Given the description of an element on the screen output the (x, y) to click on. 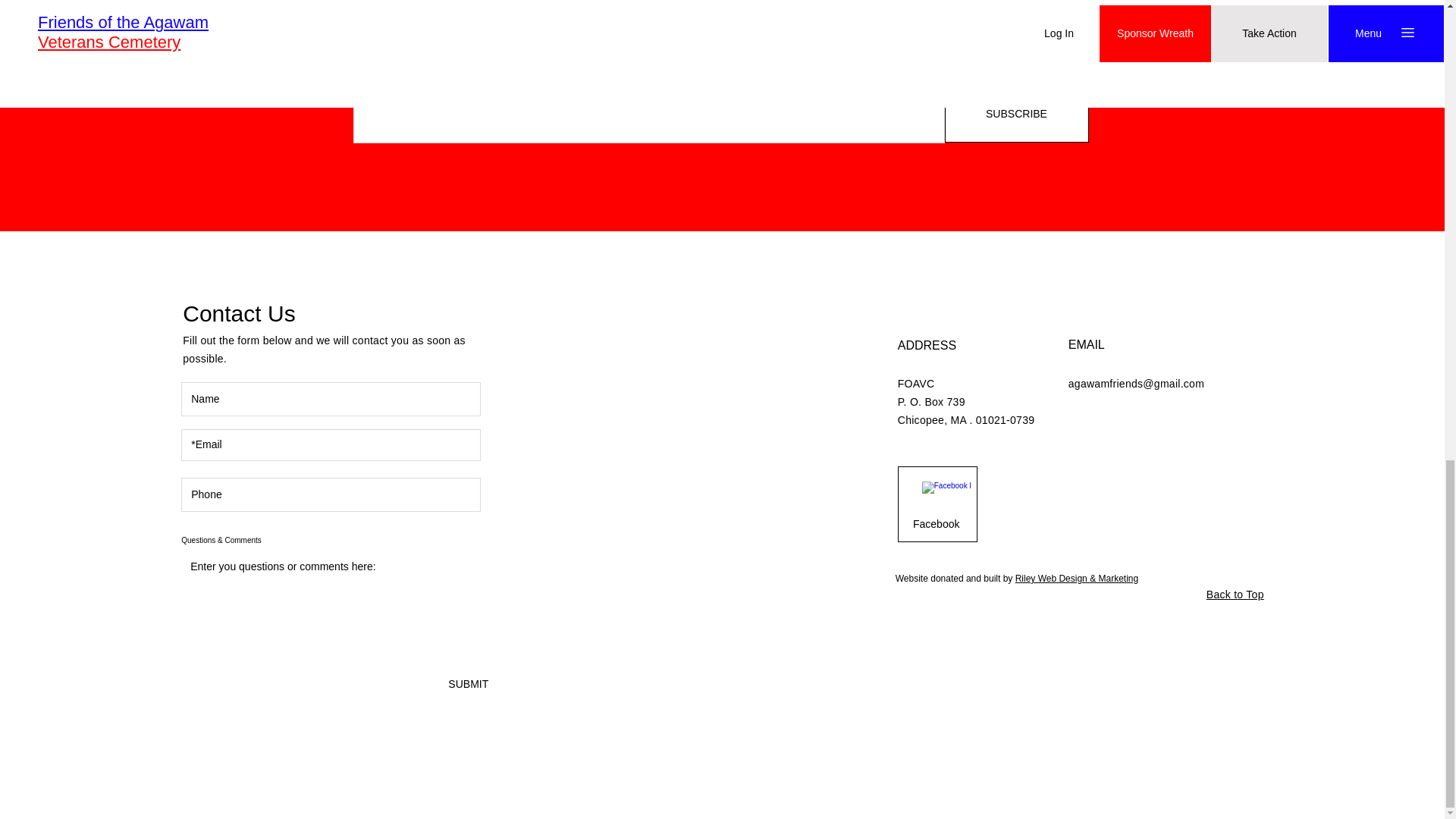
SUBMIT (463, 684)
Facebook (935, 524)
SUBSCRIBE (1016, 113)
Back to Top (1235, 594)
